Given the description of an element on the screen output the (x, y) to click on. 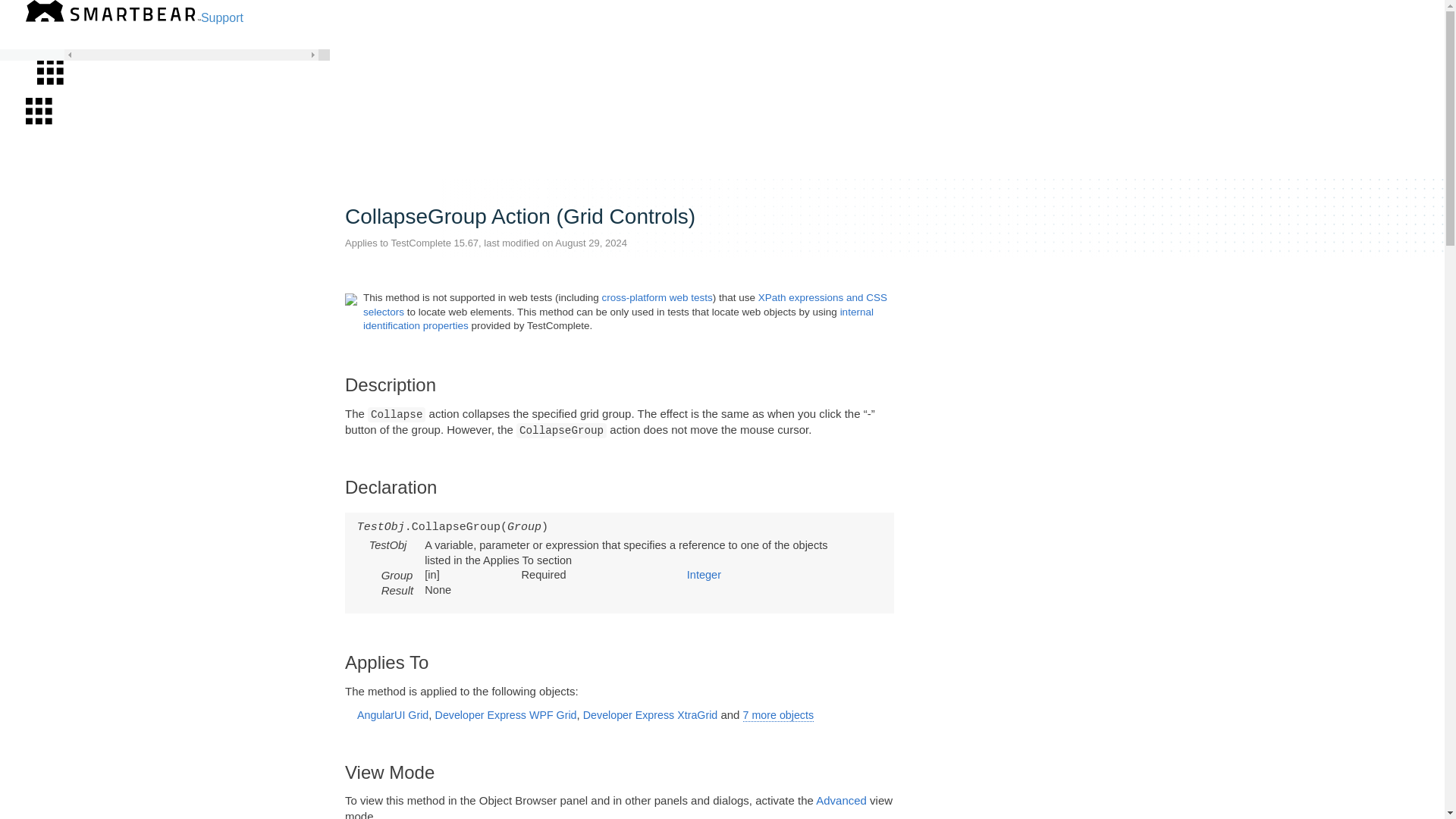
XPath expressions and CSS selectors (624, 303)
cross-platform web tests (656, 297)
AngularUI Grid (392, 715)
internal identification properties (617, 318)
Developer Express WPF Grid (505, 715)
Integer (703, 574)
Developer Express XtraGrid (650, 715)
Support (221, 17)
7 more objects (777, 715)
